Given the description of an element on the screen output the (x, y) to click on. 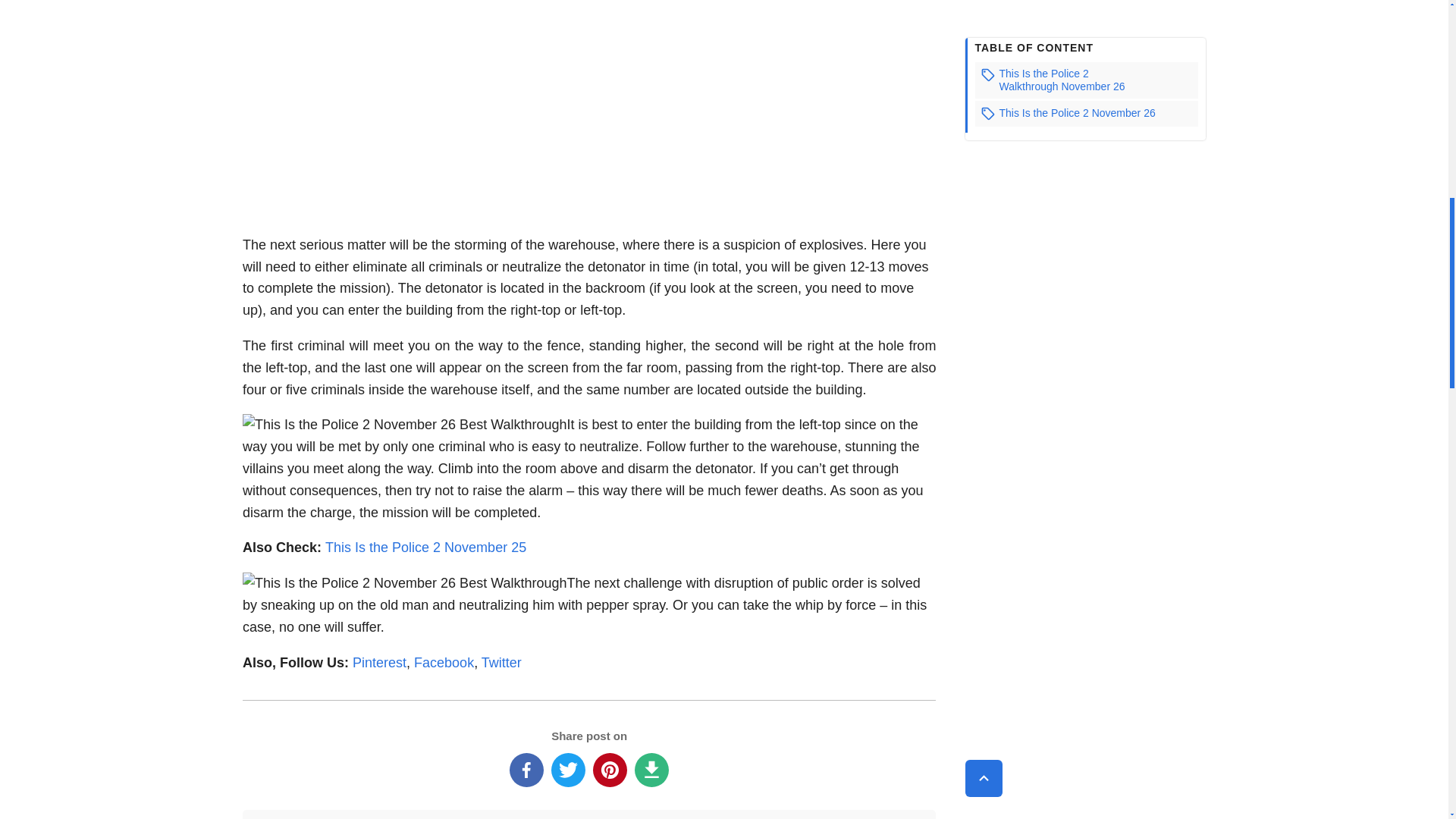
Twitter (501, 662)
Download as PDF (651, 769)
This Is the Police 2 November 25 (424, 547)
Pinterest (379, 662)
Facebook (443, 662)
Share on Pinterest (609, 769)
Share on Facebook (526, 769)
Share on Twitter (568, 769)
